Given the description of an element on the screen output the (x, y) to click on. 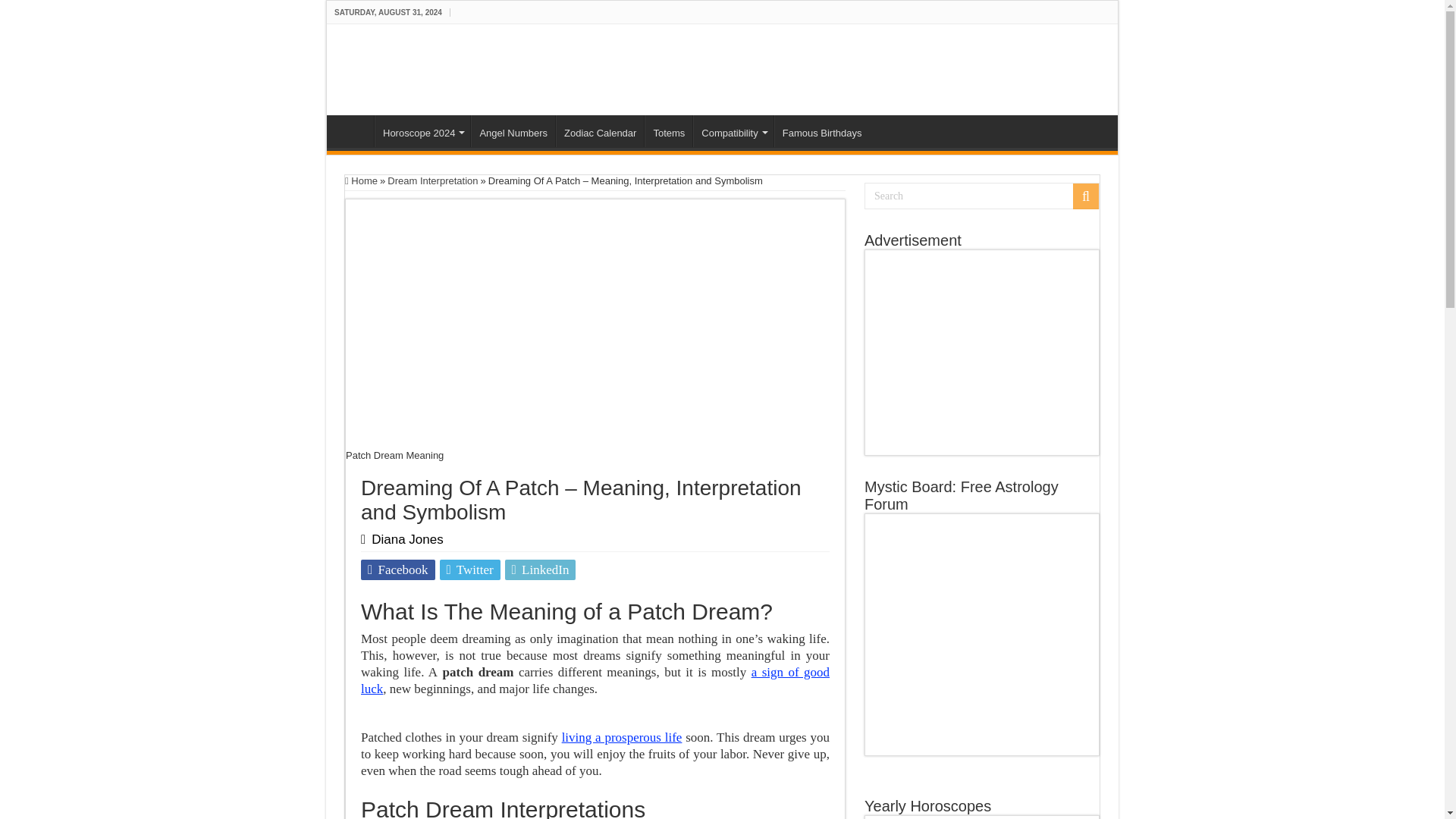
Zodiac Calendar (599, 131)
a sign of good luck (595, 680)
Angel Numbers (512, 131)
Search (981, 195)
Compatibility (733, 131)
Home (354, 131)
living a prosperous life (622, 737)
Diana Jones (407, 539)
Sun Signs (405, 66)
Horoscope 2024 (422, 131)
